Given the description of an element on the screen output the (x, y) to click on. 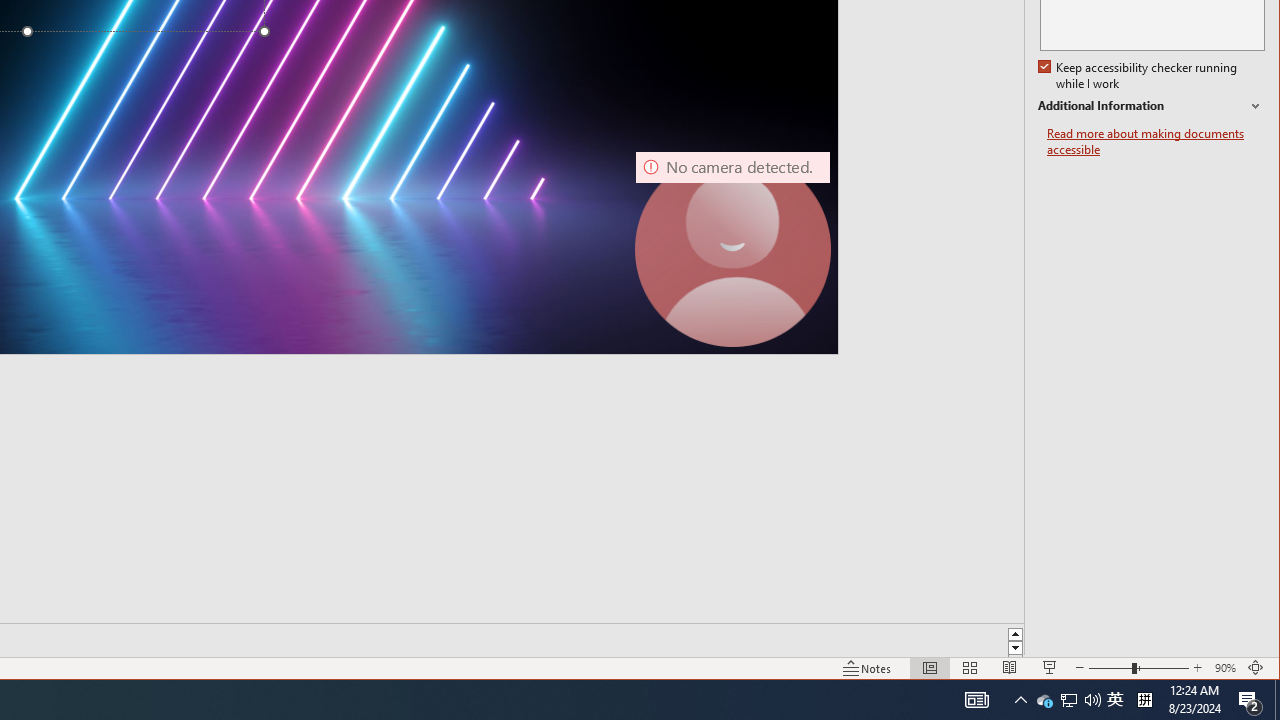
Q2790: 100% (1092, 699)
Notification Chevron (1020, 699)
Notes  (867, 668)
Keep accessibility checker running while I work (1139, 76)
Reading View (1009, 668)
Zoom (1139, 668)
User Promoted Notification Area (1044, 699)
Show desktop (1068, 699)
Zoom Out (1277, 699)
Zoom In (1069, 699)
Tray Input Indicator - Chinese (Simplified, China) (1110, 668)
Action Center, 2 new notifications (1198, 668)
